Given the description of an element on the screen output the (x, y) to click on. 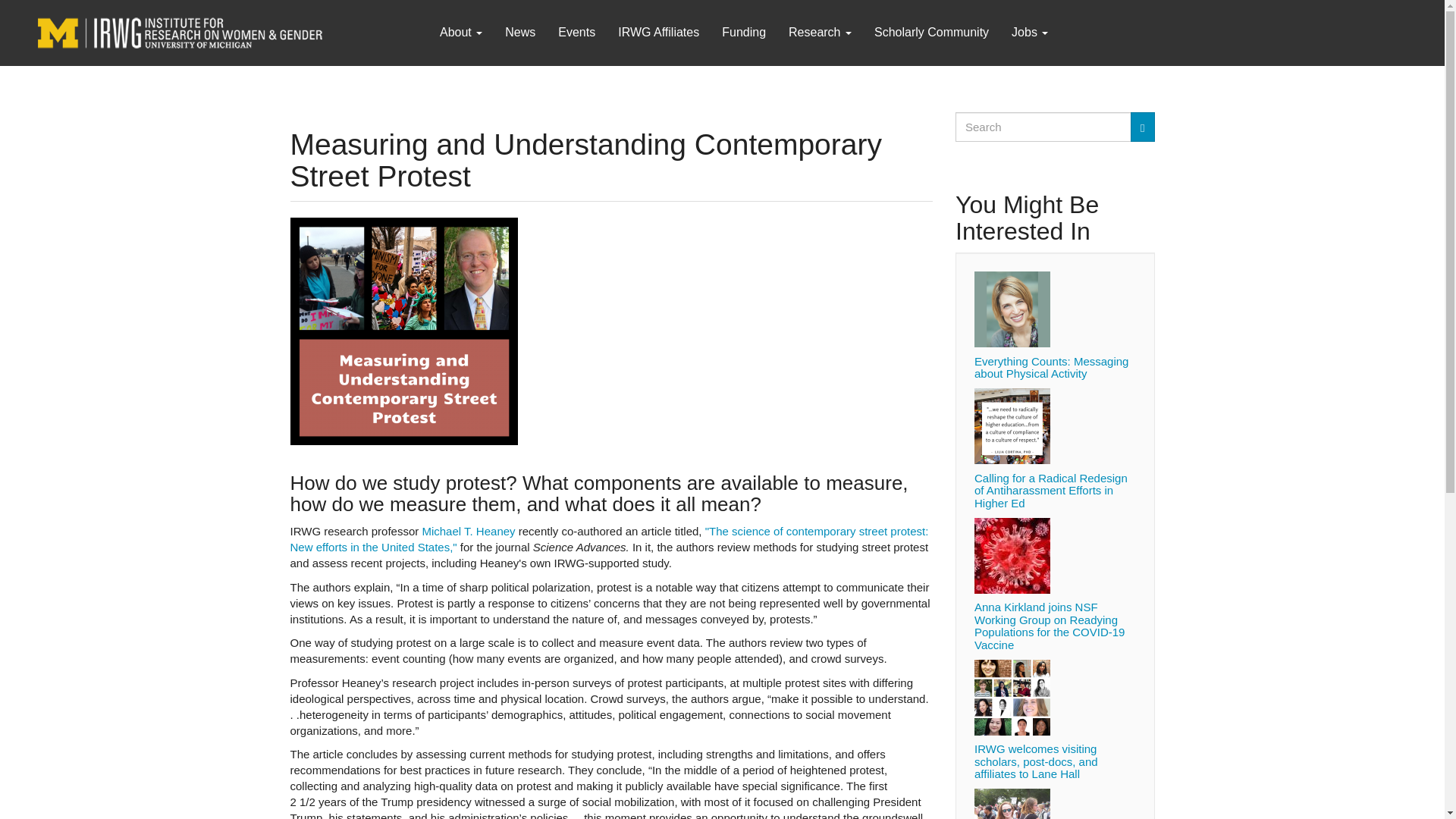
Scholarly Community (931, 32)
IRWG Affiliates (658, 32)
Michael T. Heaney (468, 530)
Funding (743, 32)
Home (232, 32)
Jobs (1029, 32)
IRWG Affiliates (658, 32)
